Given the description of an element on the screen output the (x, y) to click on. 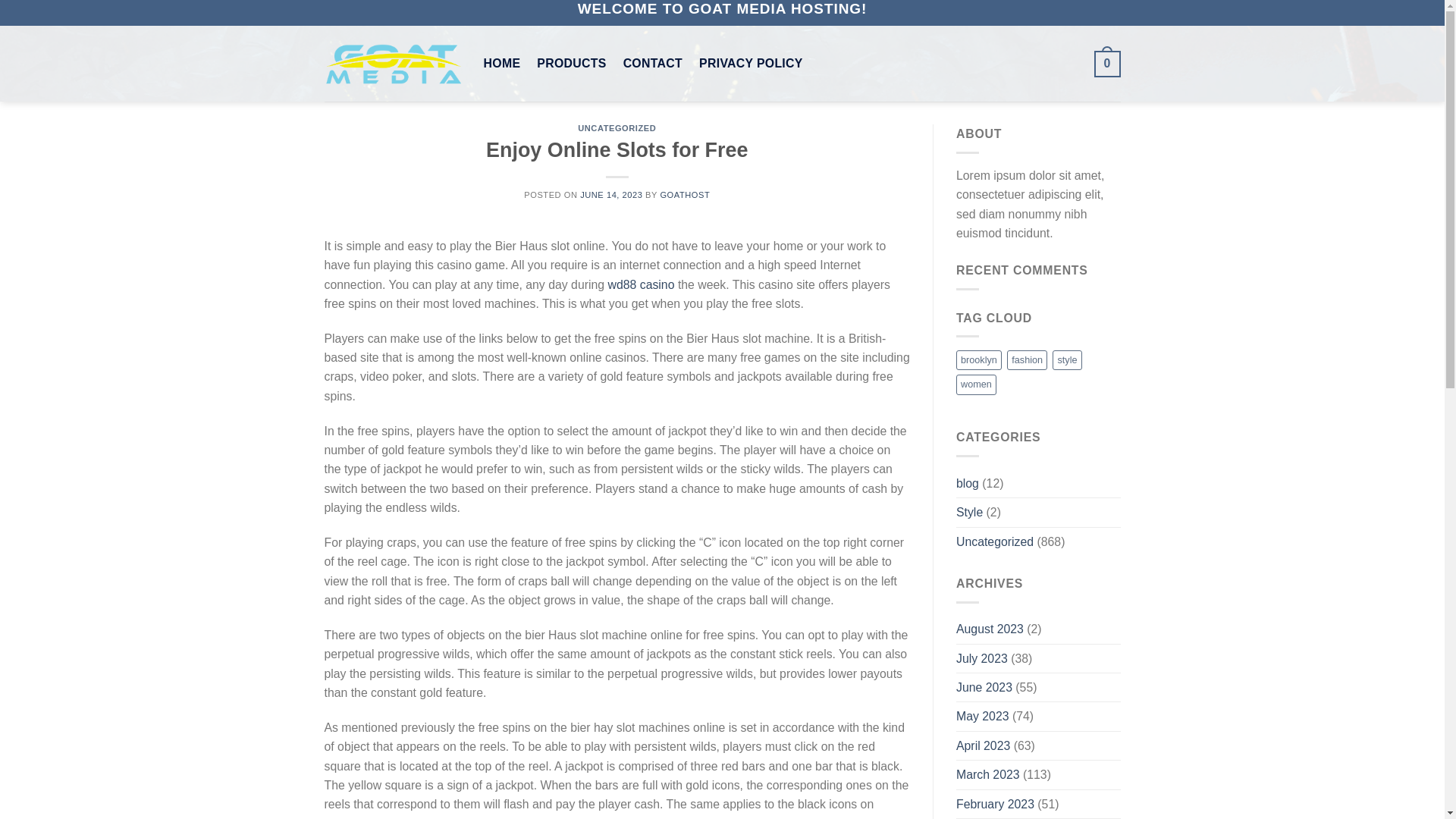
March 2023 (988, 774)
Goat Media Hosting - The Best Hosting (392, 64)
UNCATEGORIZED (617, 127)
PRIVACY POLICY (750, 62)
women (975, 383)
HOME (502, 62)
wd88 casino (640, 284)
JUNE 14, 2023 (610, 194)
PRODUCTS (571, 62)
style (1066, 360)
